Given the description of an element on the screen output the (x, y) to click on. 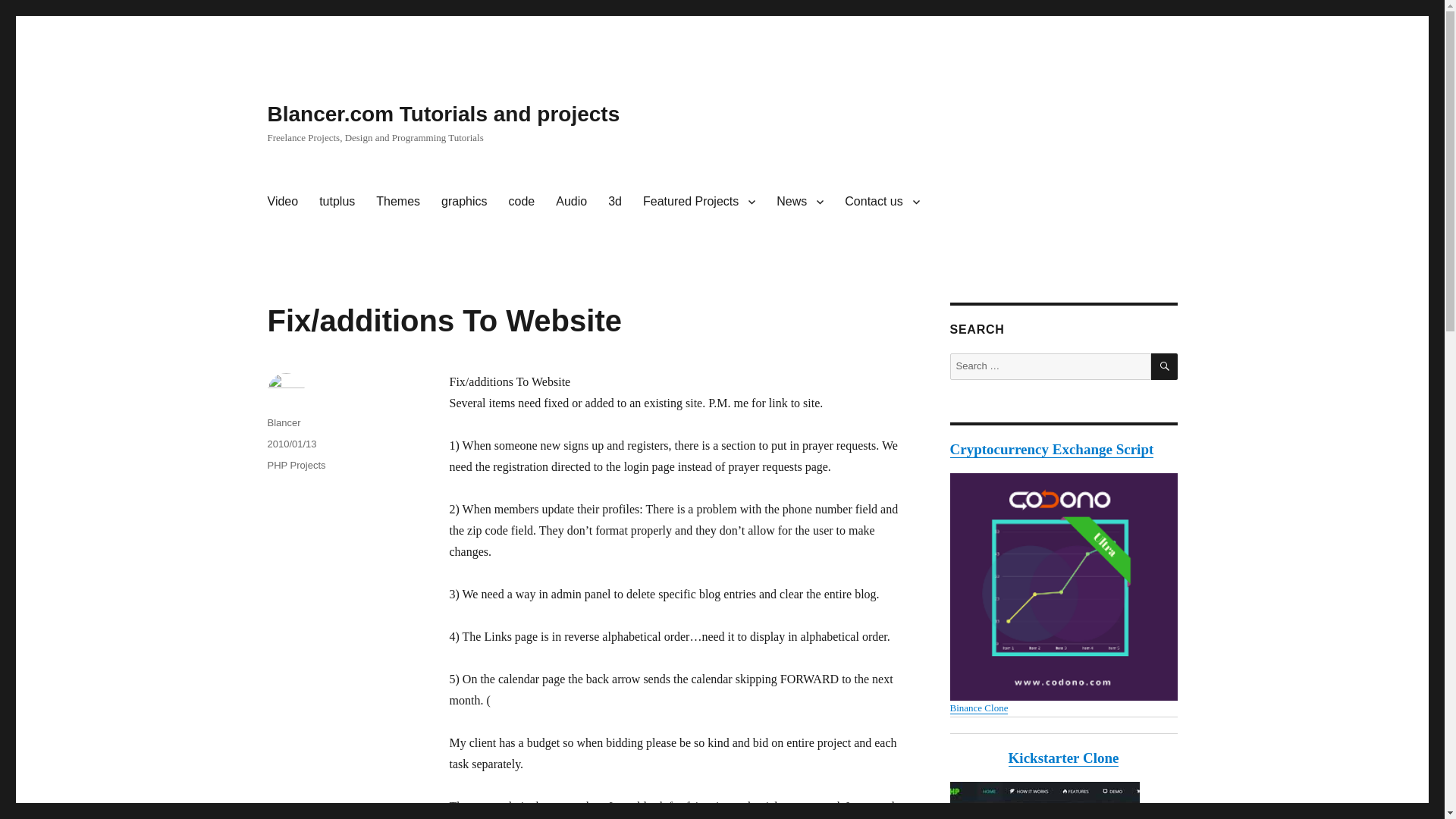
code (521, 201)
Kickstarter Clone (1064, 757)
Blancer.com Tutorials and projects (443, 114)
SEARCH (1164, 366)
graphics (463, 201)
Kickstarter Clone (1062, 800)
3d (613, 201)
Binance Clone (978, 707)
Blancer (282, 422)
PHP Projects (295, 464)
Cryptocurrency Exchange Script (1051, 449)
Cryptocurrency Exchange Script (1062, 593)
Contact us (882, 201)
Video (282, 201)
News (799, 201)
